Given the description of an element on the screen output the (x, y) to click on. 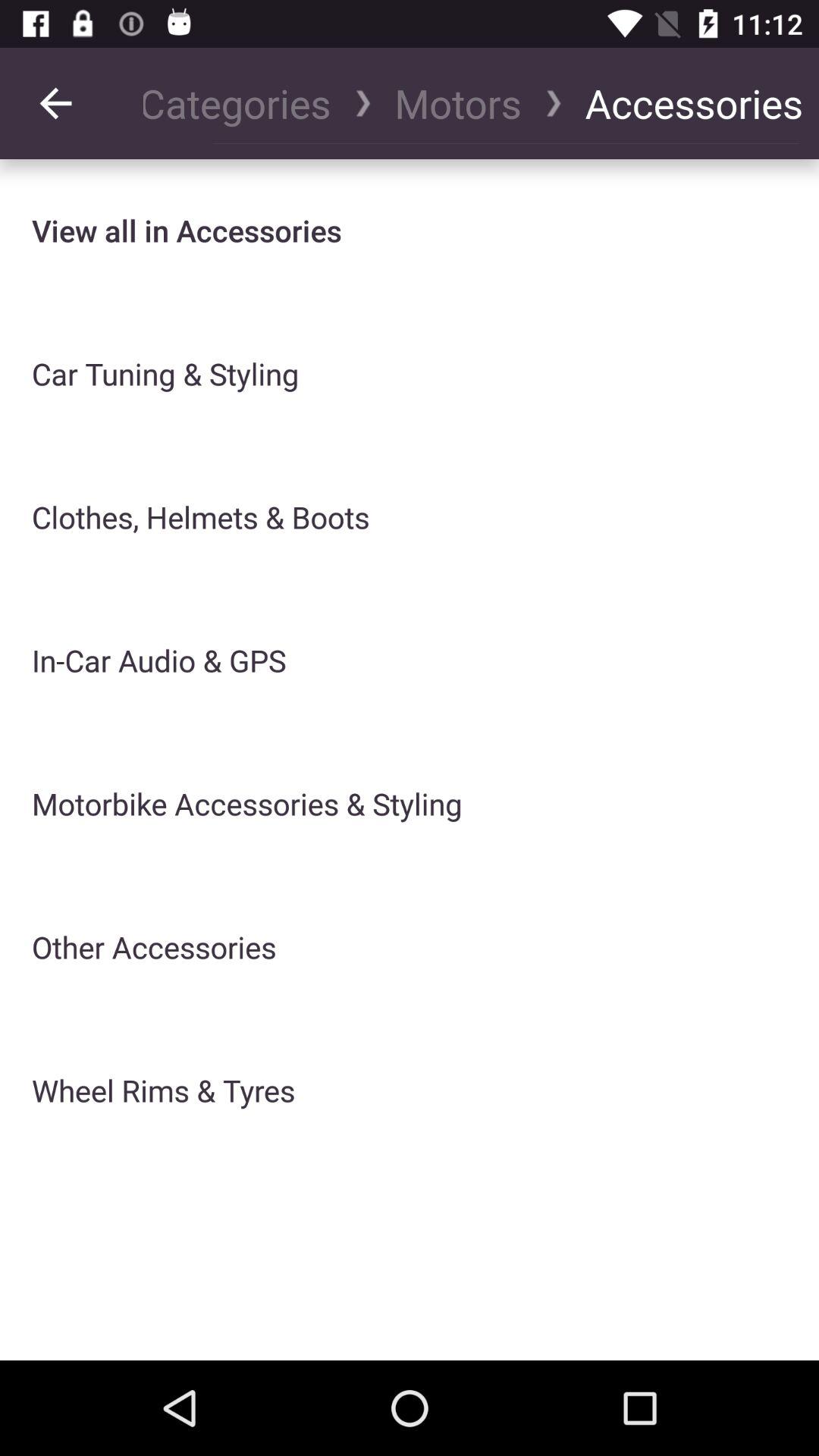
turn on the view all in (186, 230)
